Given the description of an element on the screen output the (x, y) to click on. 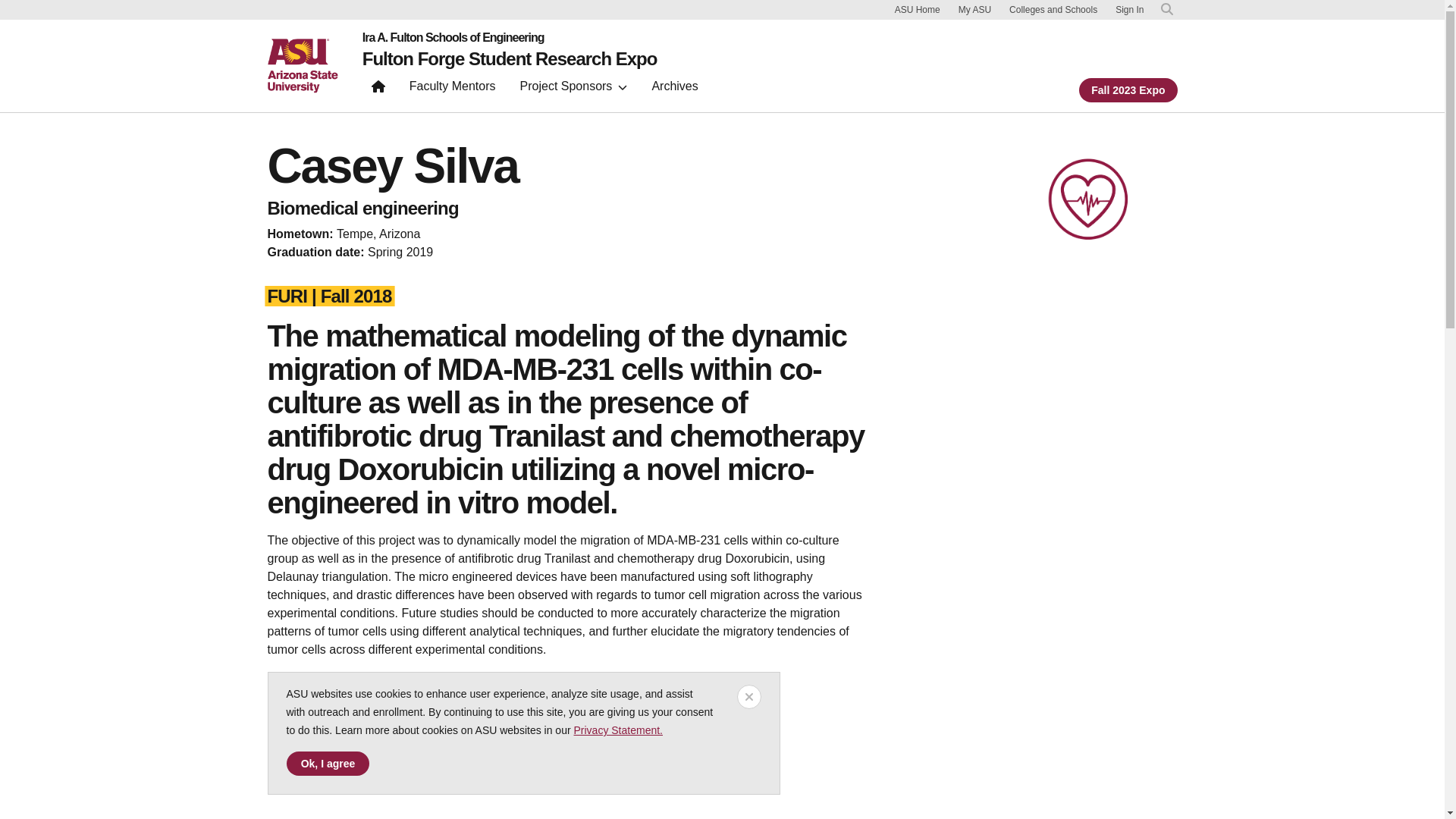
Project Sponsors (574, 89)
ASU Home (917, 9)
Archives (674, 89)
Colleges and Schools (1053, 9)
ASU home page (301, 65)
Fulton Forge Student Research Expo (510, 58)
Fall 2023 Expo (1127, 88)
Archives (674, 89)
Faculty Mentors (452, 89)
